Given the description of an element on the screen output the (x, y) to click on. 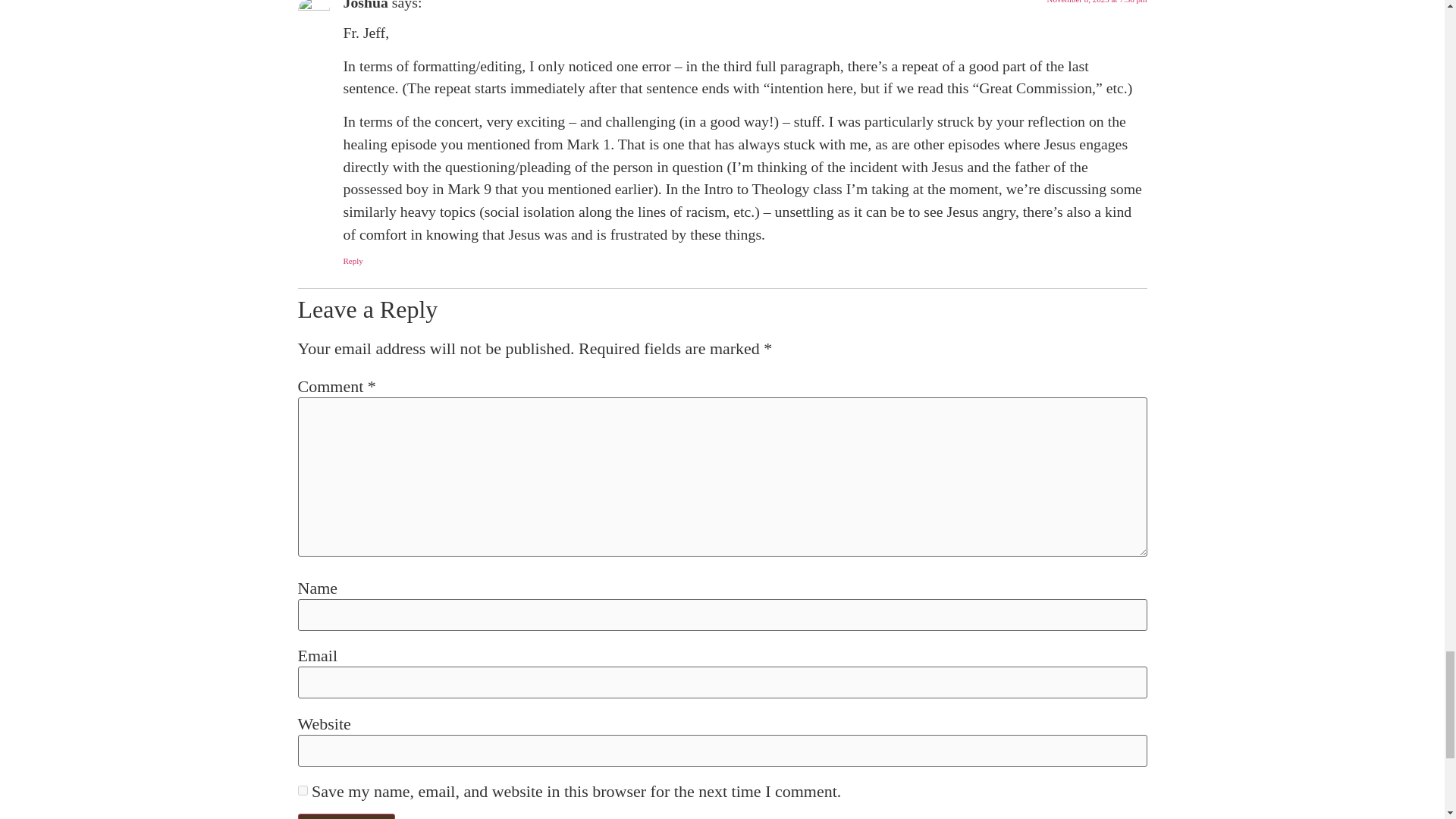
Reply (352, 260)
Post Comment (345, 816)
November 8, 2023 at 7:56 pm (1096, 2)
yes (302, 790)
